Given the description of an element on the screen output the (x, y) to click on. 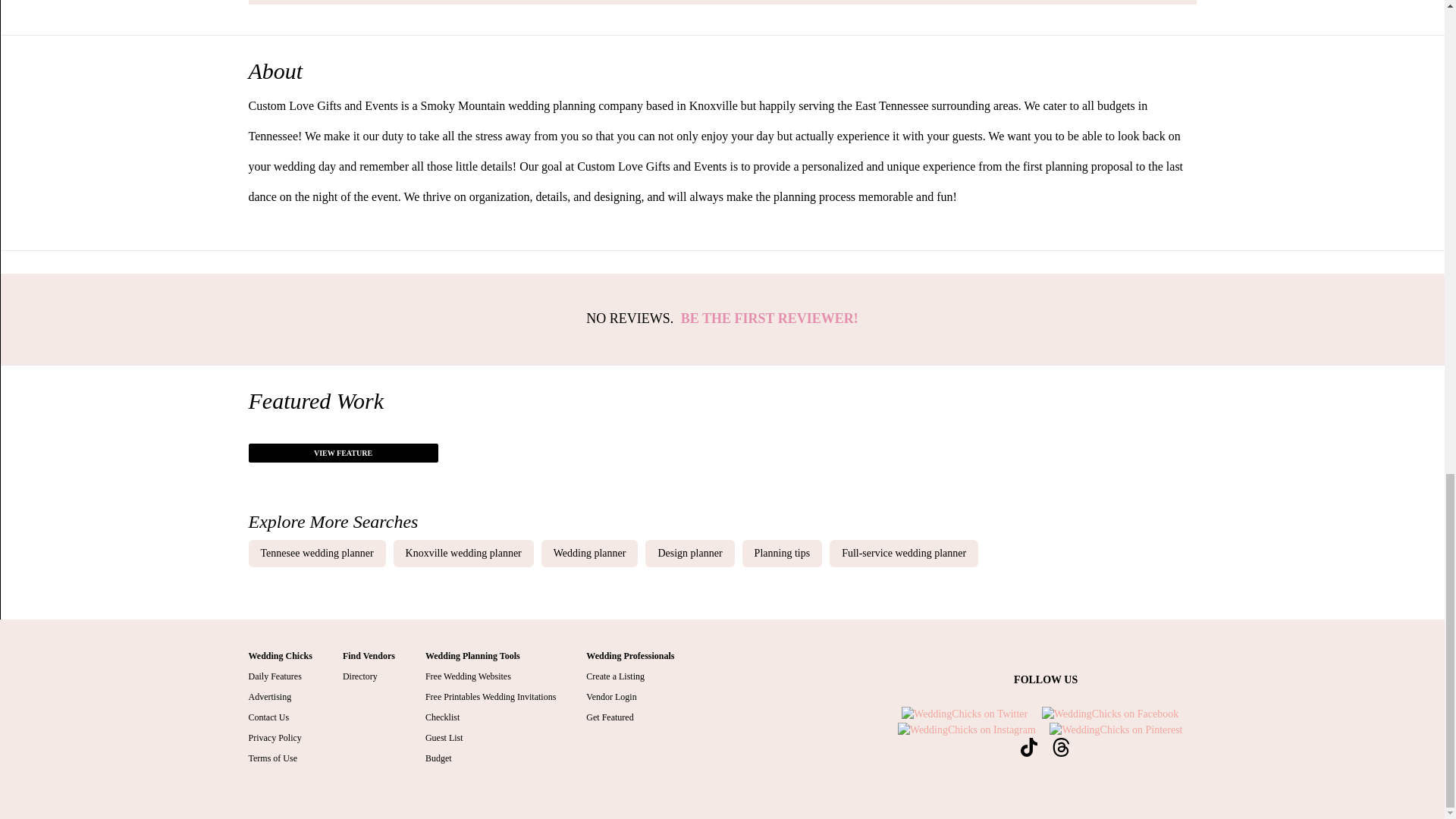
WeddingChicks on Instagram (966, 728)
WeddingChicks on Twitter (964, 713)
WeddingChicks on Facebook (1110, 713)
WeddingChicks on Tiktok (1028, 746)
WeddingChicks on Pinterest (1115, 728)
WeddingChicks on Threads (1060, 746)
